Given the description of an element on the screen output the (x, y) to click on. 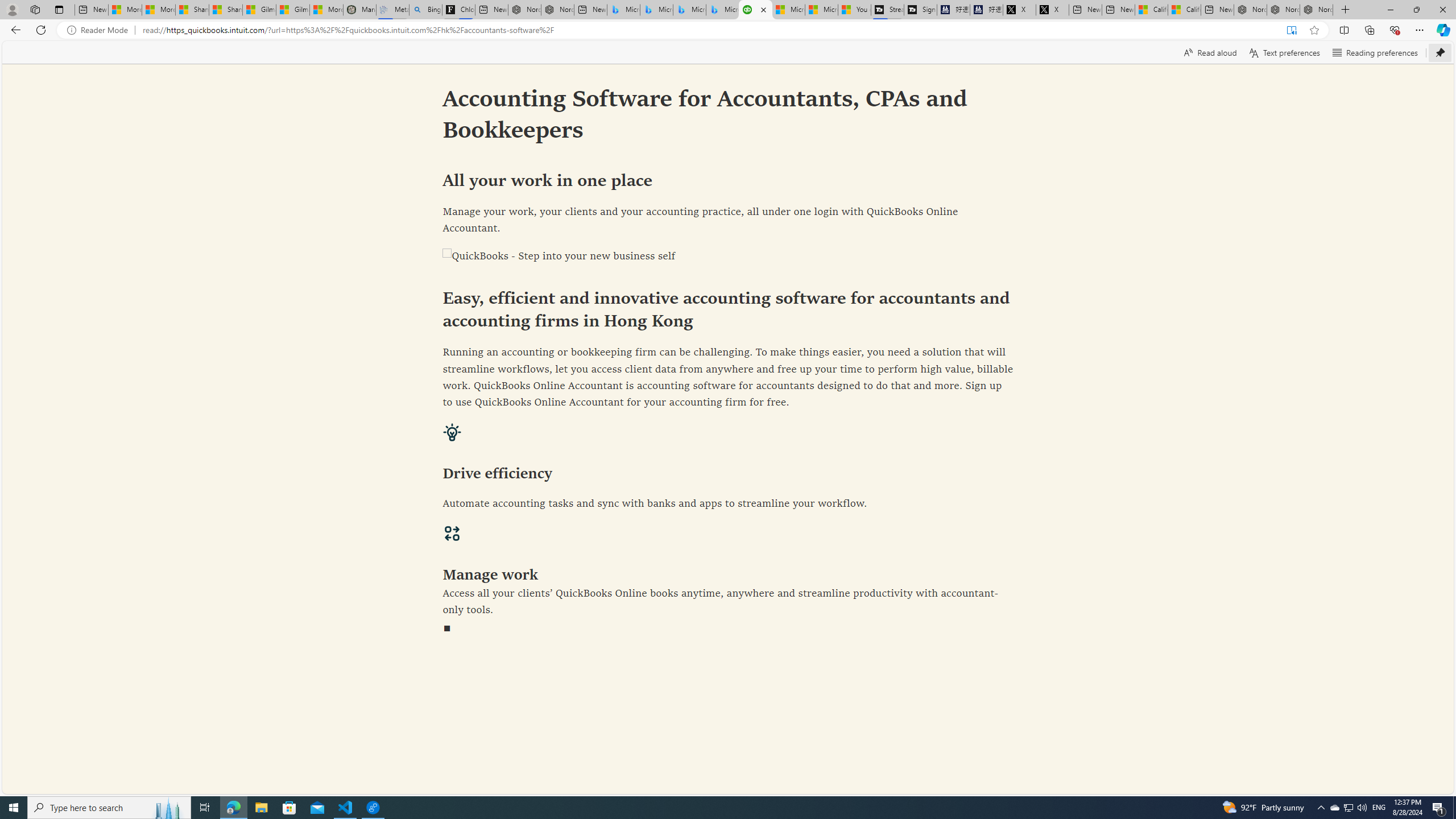
Exit Immersive Reader (F9) (1291, 29)
Text preferences (1283, 52)
